Given the description of an element on the screen output the (x, y) to click on. 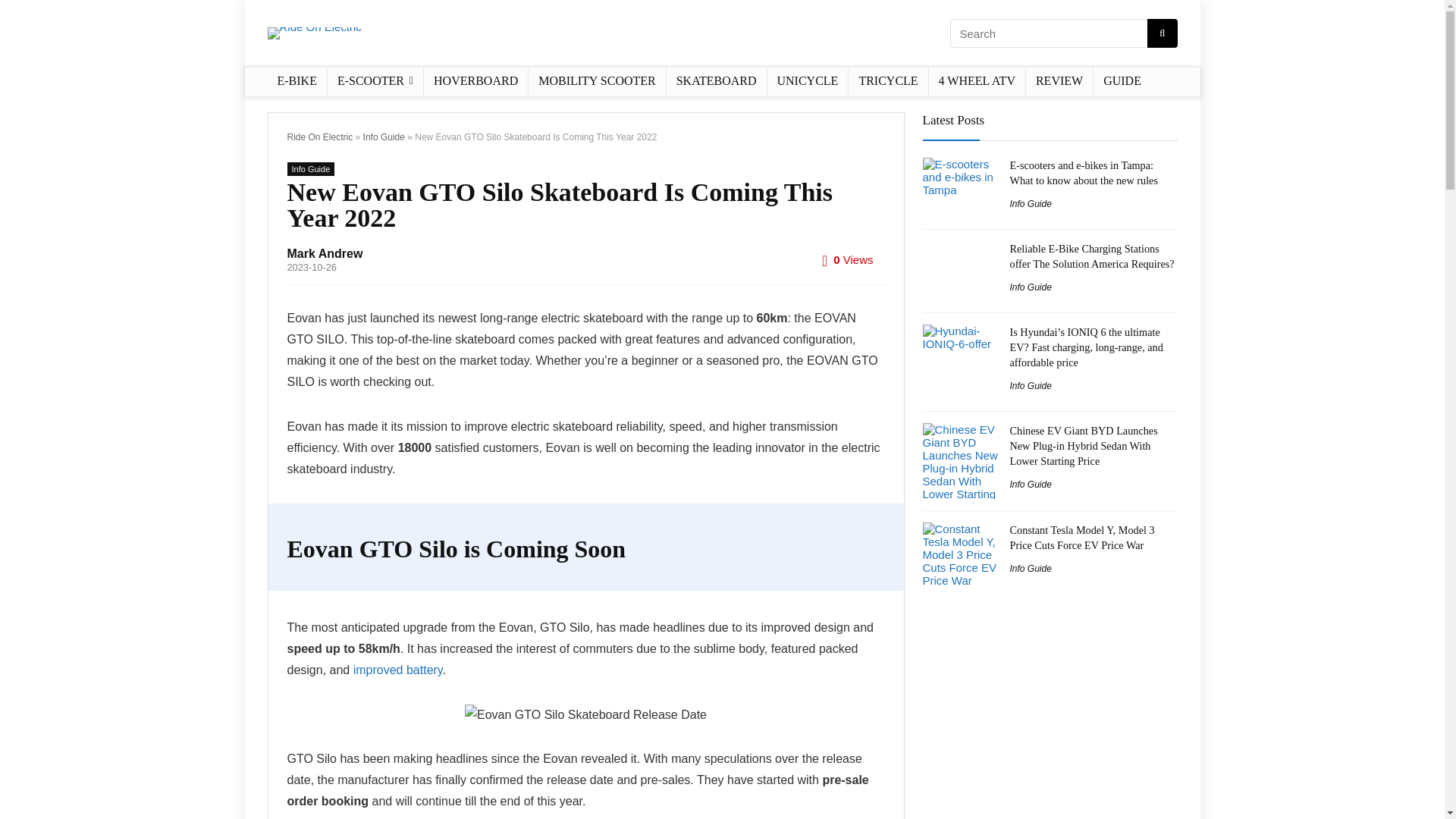
REVIEW (1059, 81)
View all posts in Info Guide (310, 169)
SKATEBOARD (716, 81)
HOVERBOARD (475, 81)
MOBILITY SCOOTER (596, 81)
UNICYCLE (807, 81)
improved battery (397, 669)
GUIDE (1122, 81)
Info Guide (383, 136)
4 WHEEL ATV (976, 81)
